Given the description of an element on the screen output the (x, y) to click on. 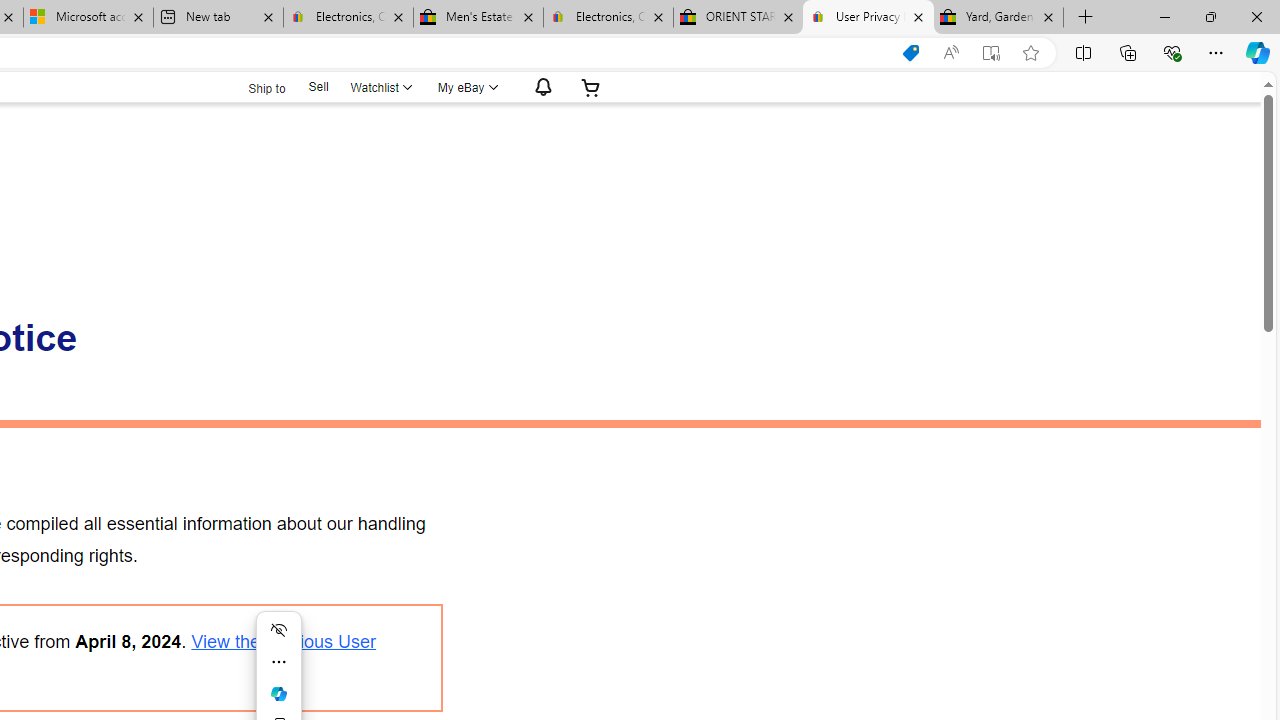
More actions (278, 661)
My eBay (466, 87)
Ship to (253, 85)
Hide menu (278, 629)
